Given the description of an element on the screen output the (x, y) to click on. 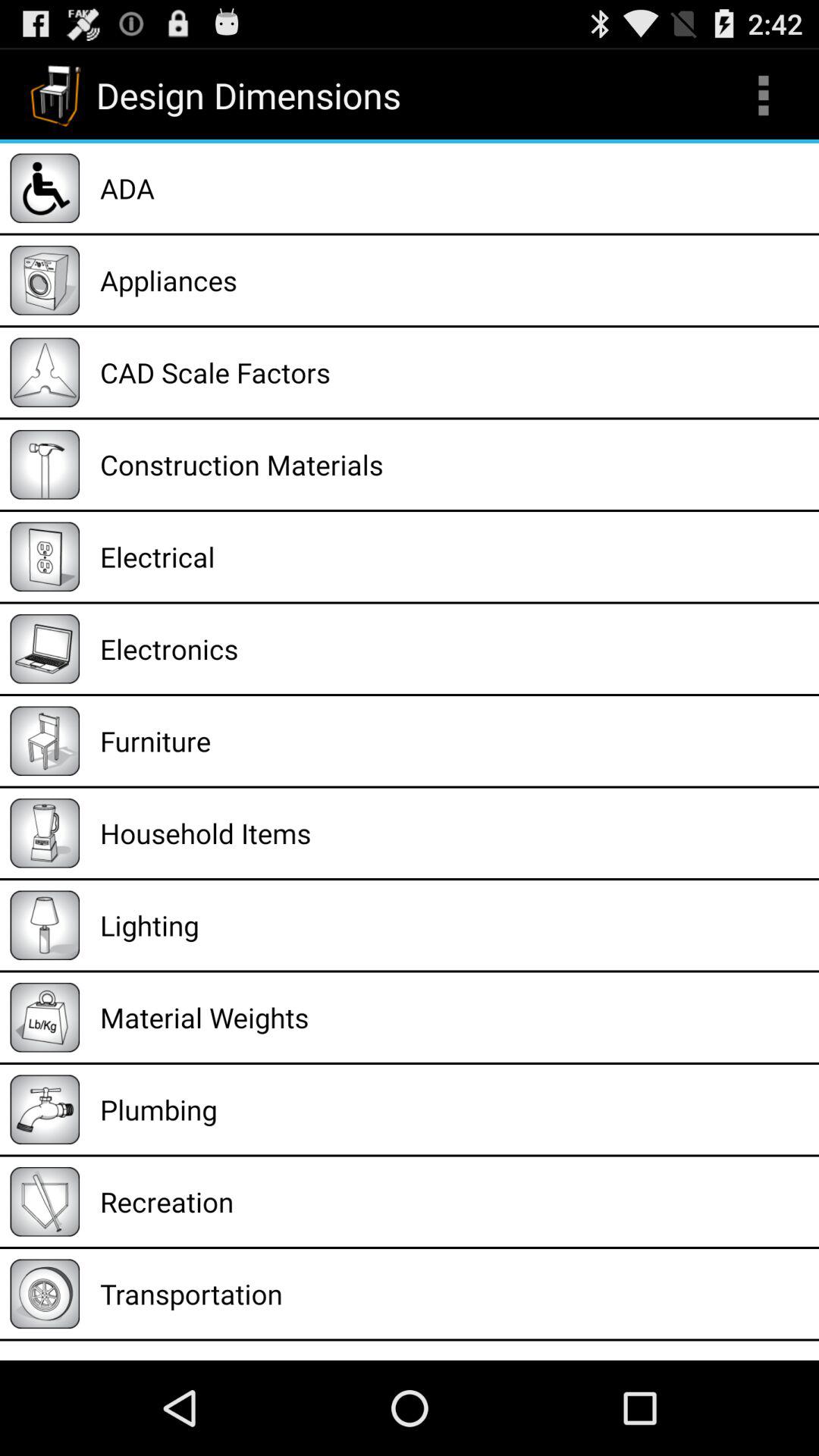
launch ada (454, 188)
